Given the description of an element on the screen output the (x, y) to click on. 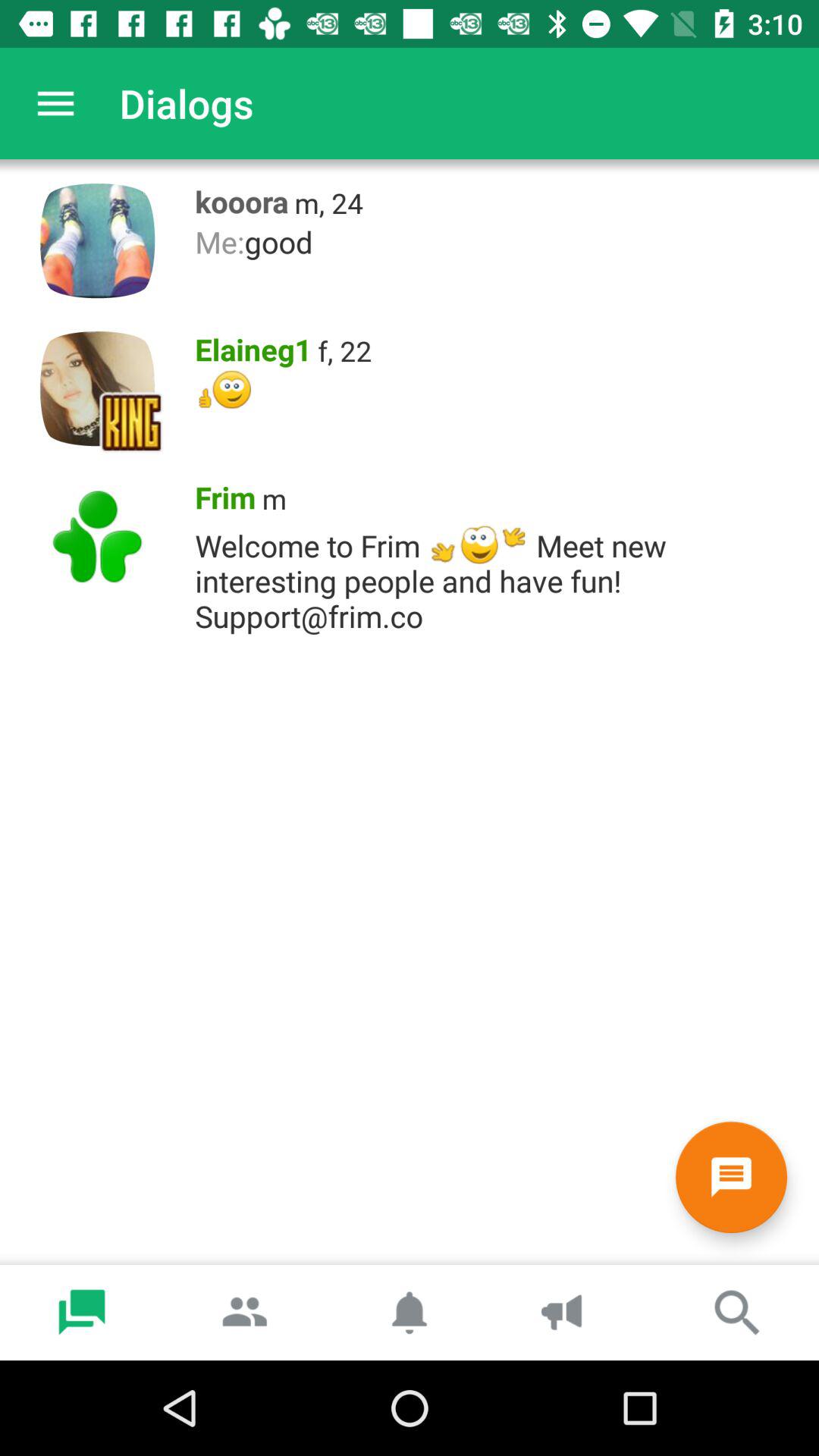
message contacts (731, 1177)
